Given the description of an element on the screen output the (x, y) to click on. 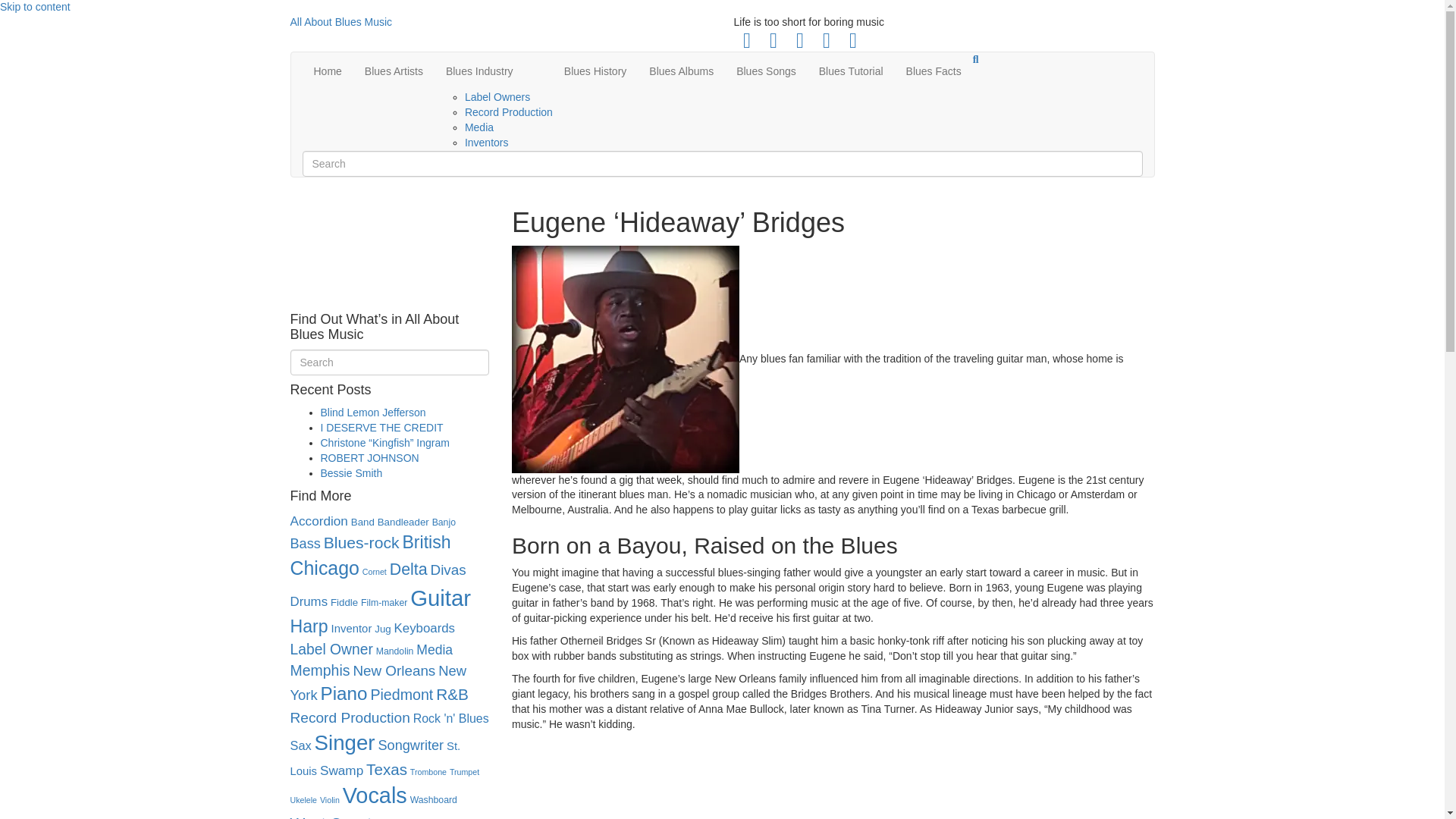
All About Blues Music (499, 22)
Rss (826, 40)
Band (362, 521)
Home (326, 71)
Divas (447, 569)
Facebook (746, 40)
Bass (304, 543)
Twitter (773, 40)
Blues-rock (360, 542)
Accordion (318, 520)
